Given the description of an element on the screen output the (x, y) to click on. 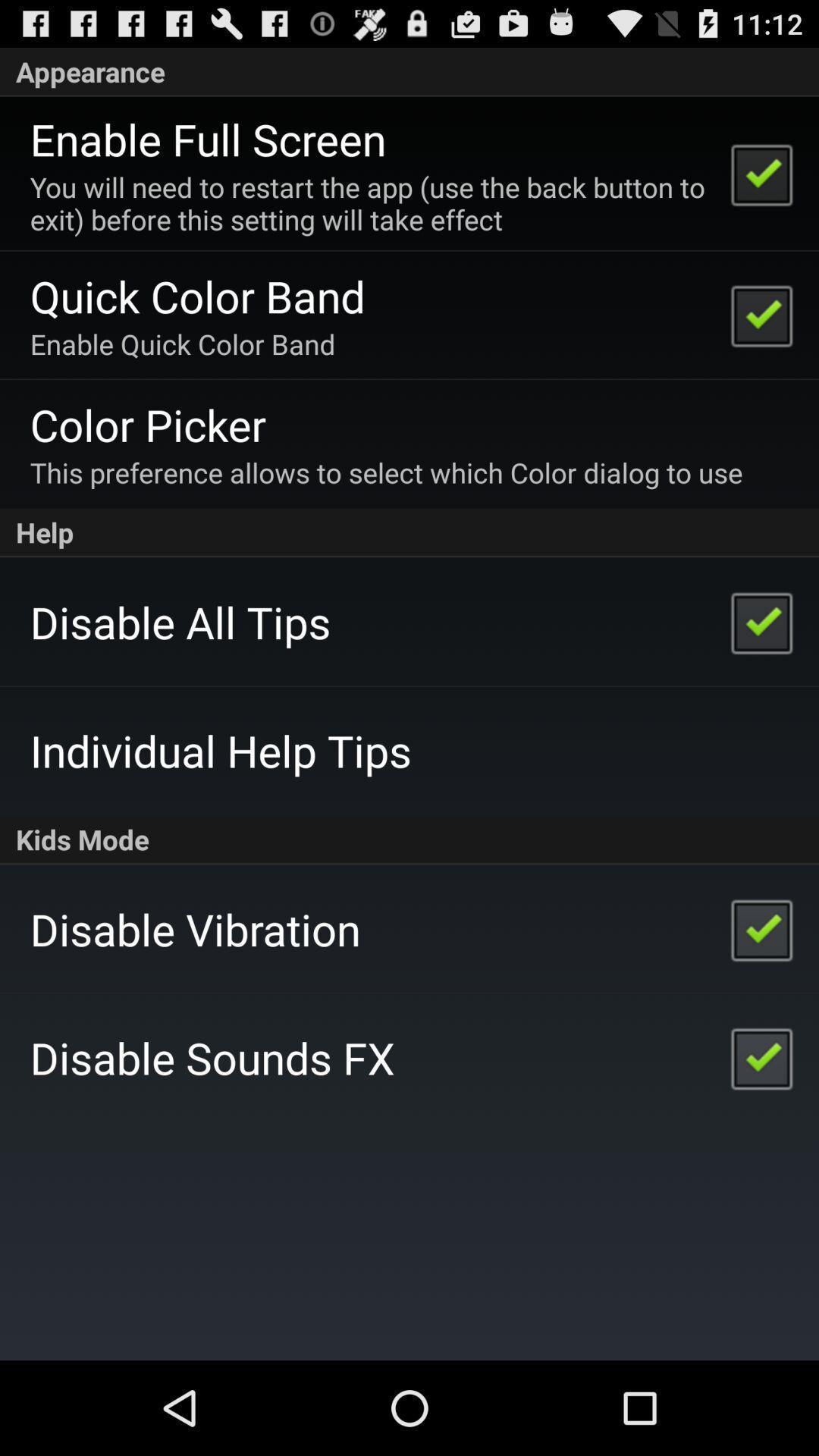
flip to kids mode (409, 839)
